Given the description of an element on the screen output the (x, y) to click on. 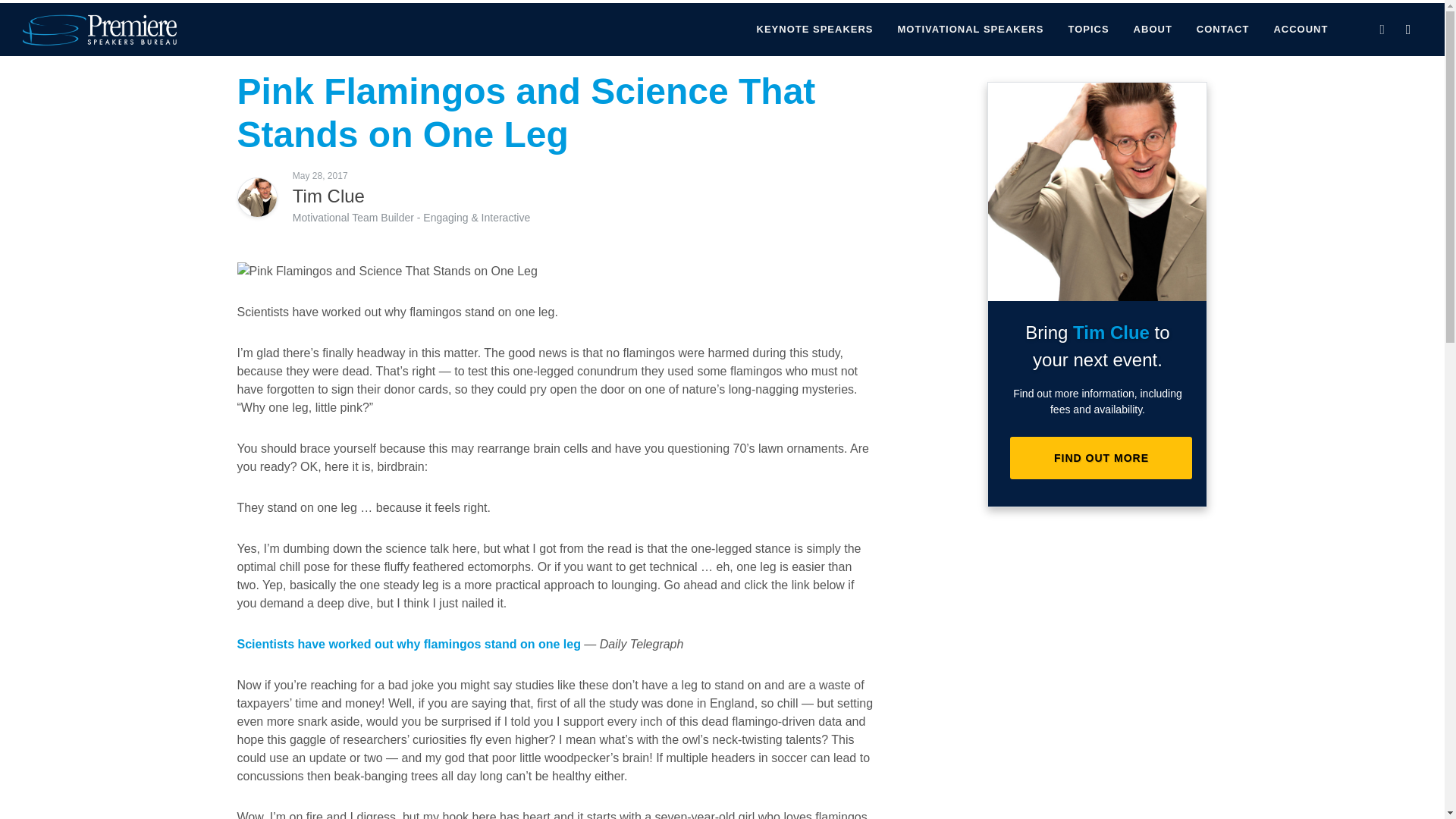
KEYNOTE SPEAKERS (815, 29)
FIND OUT MORE (1101, 457)
CONTACT (1222, 29)
ACCOUNT (1300, 29)
MOTIVATIONAL SPEAKERS (970, 29)
Speakers Bureau (63, 9)
ABOUT (1152, 29)
TOPICS (1088, 29)
Scientists have worked out why flamingos stand on one leg (407, 644)
